Given the description of an element on the screen output the (x, y) to click on. 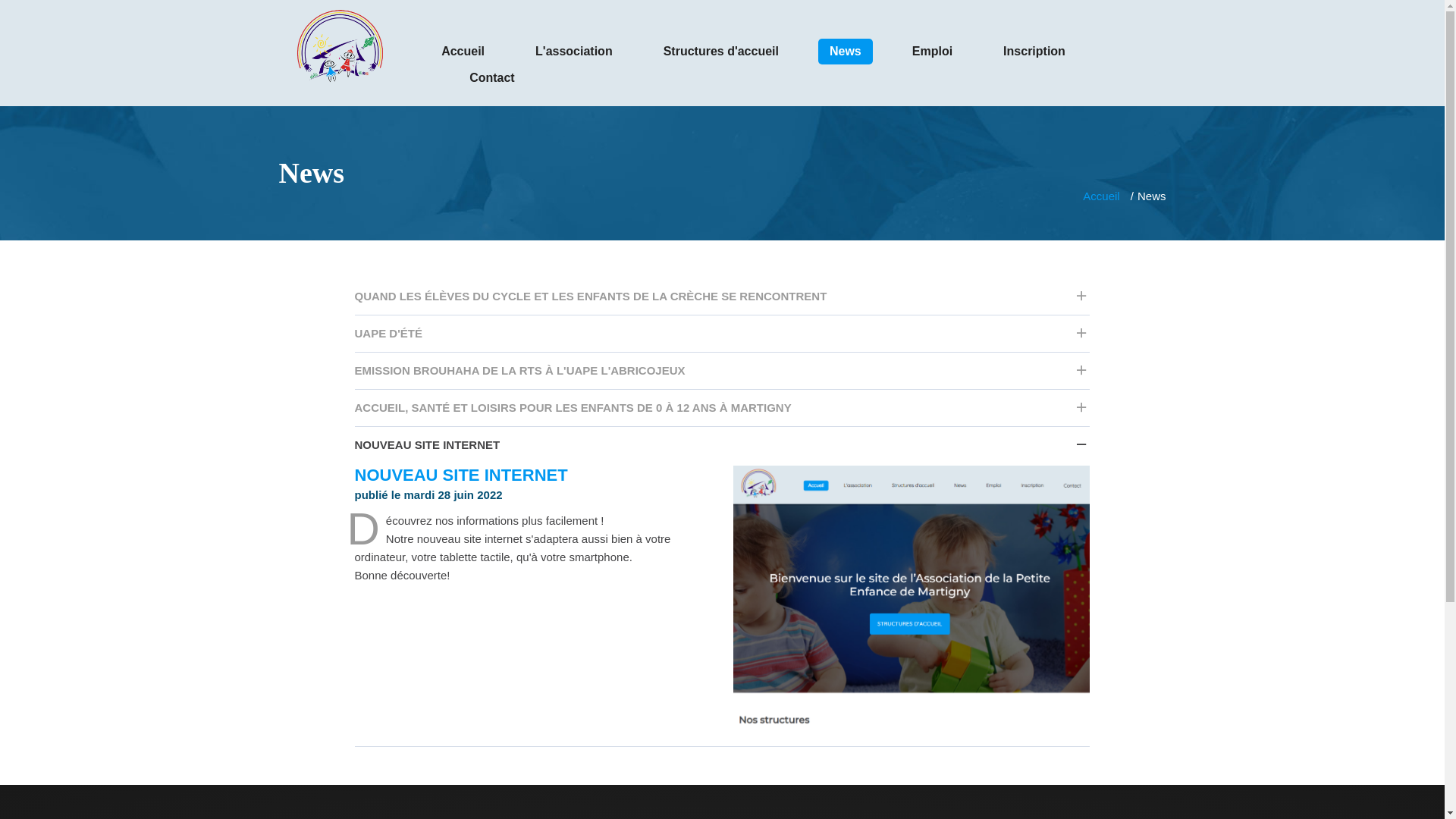
NOUVEAU SITE INTERNET Element type: text (722, 444)
Inscription Element type: text (1033, 51)
Accueil Element type: text (1100, 195)
Emploi Element type: text (931, 51)
Contact Element type: text (492, 77)
Structures d'accueil Element type: text (721, 51)
Accueil Element type: text (462, 51)
L'association Element type: text (574, 51)
News Element type: text (845, 51)
